Given the description of an element on the screen output the (x, y) to click on. 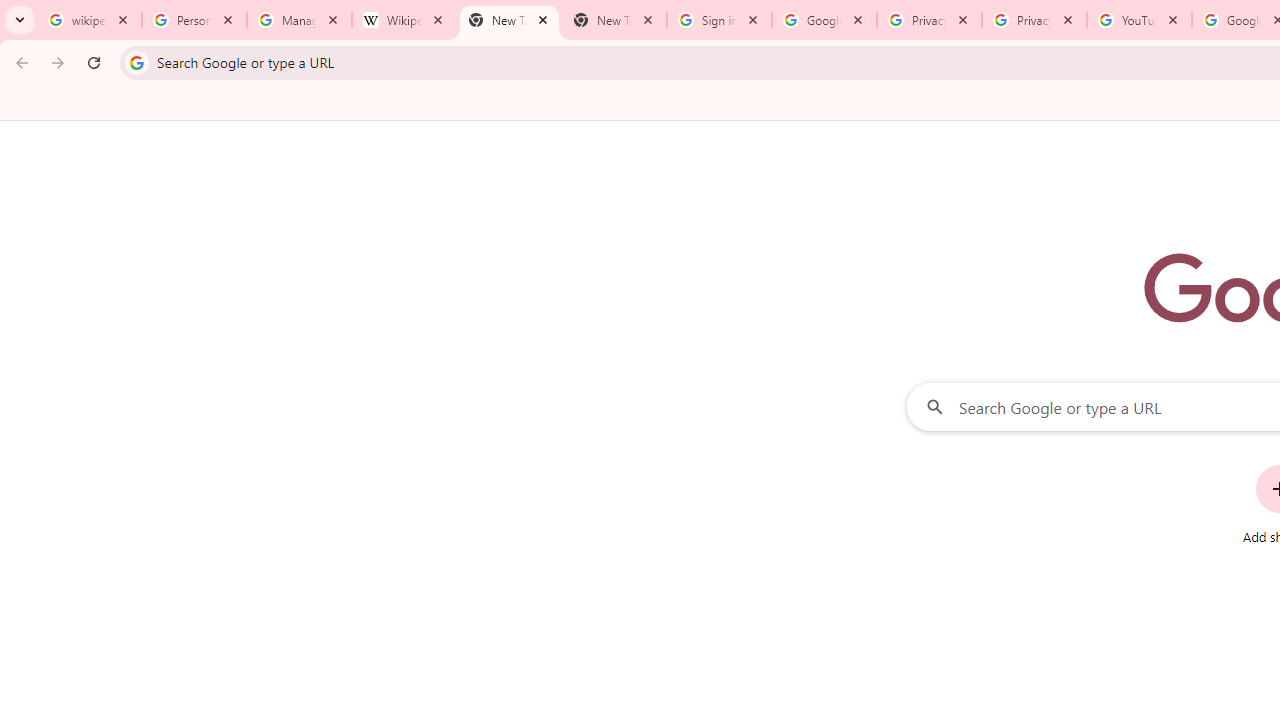
New Tab (613, 20)
Google Drive: Sign-in (823, 20)
Personalization & Google Search results - Google Search Help (194, 20)
New Tab (509, 20)
